Given the description of an element on the screen output the (x, y) to click on. 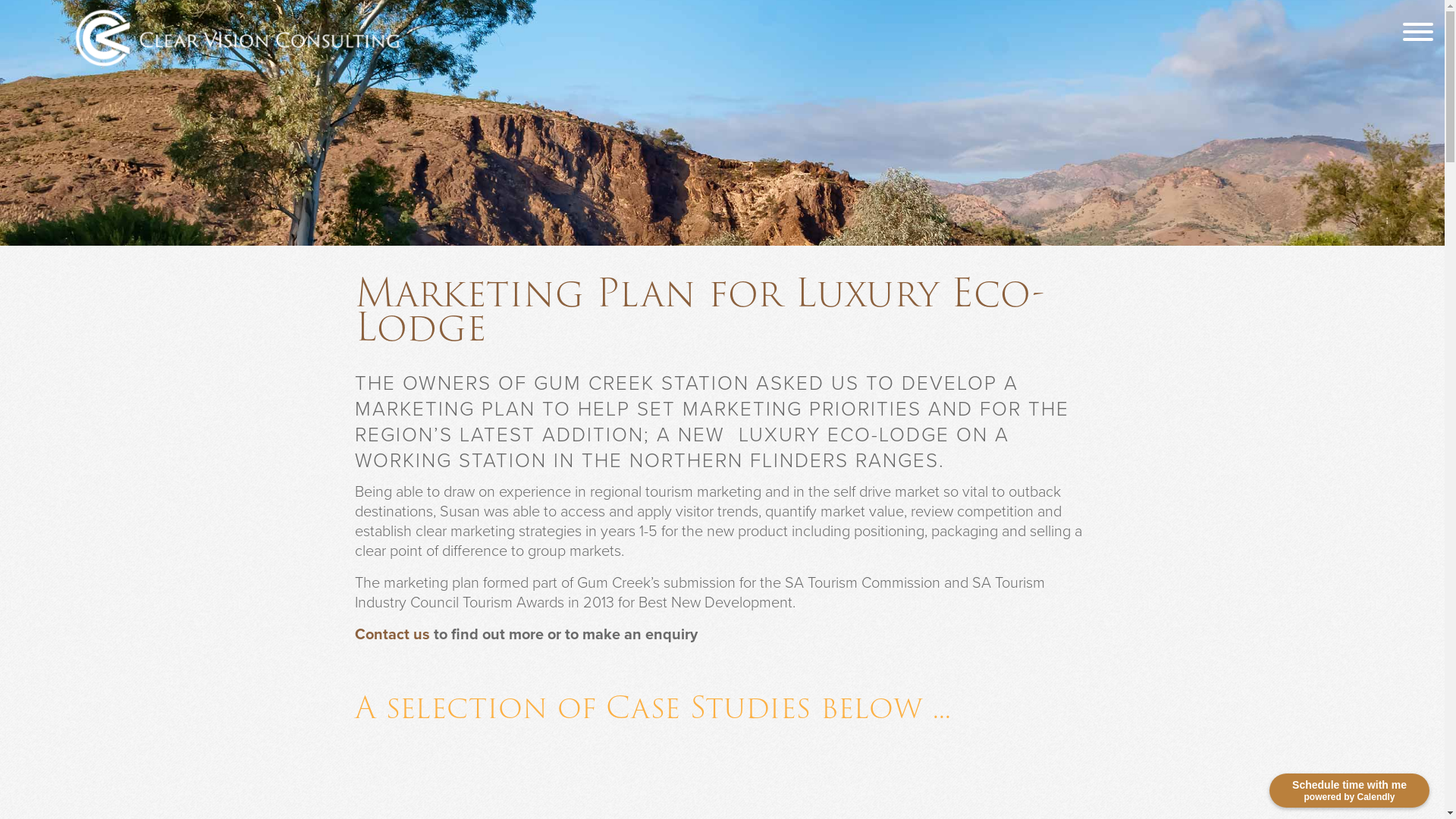
Contact us Element type: text (391, 633)
